Given the description of an element on the screen output the (x, y) to click on. 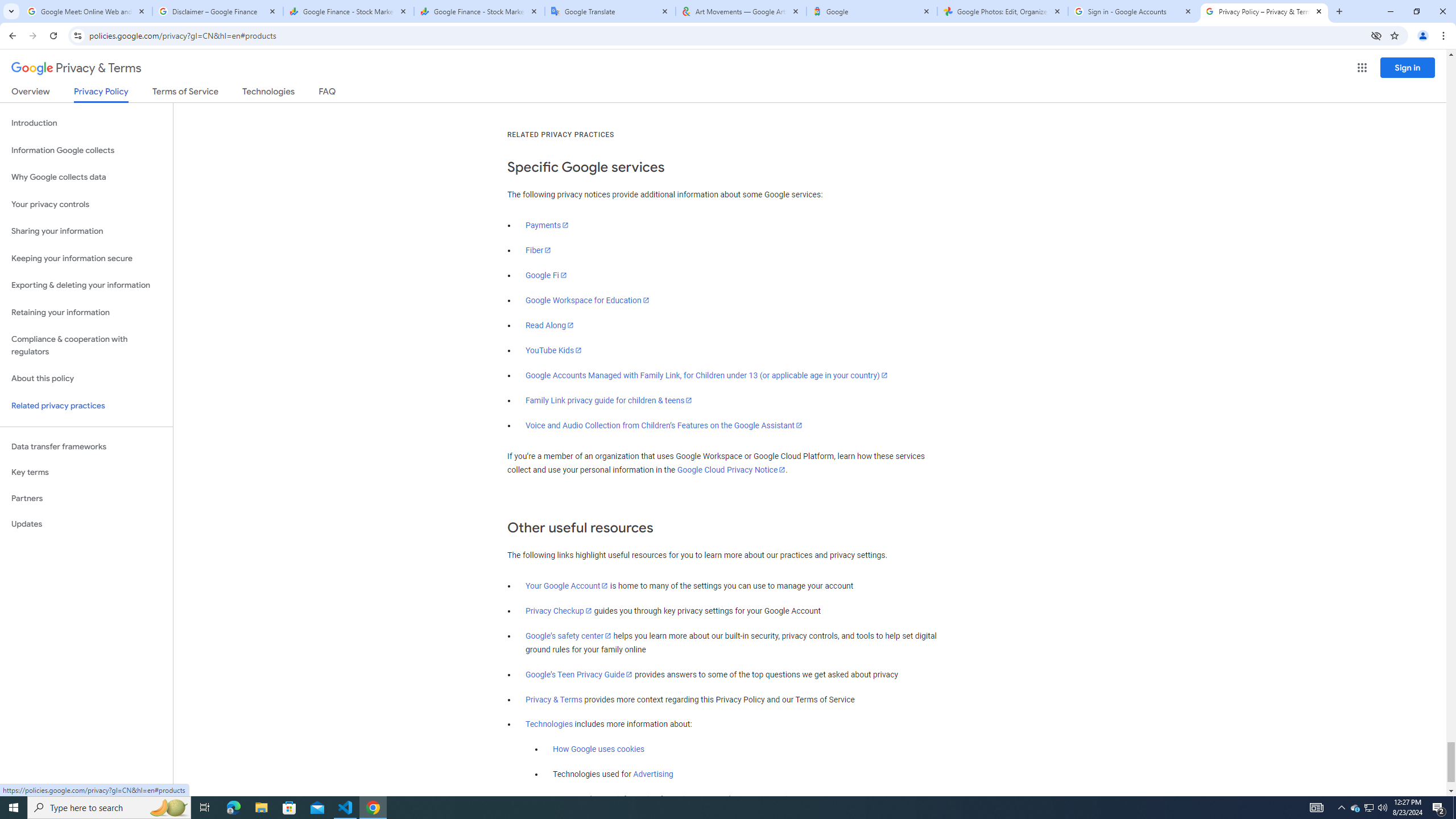
About this policy (86, 379)
Information Google collects (86, 150)
Sign in - Google Accounts (1133, 11)
